Given the description of an element on the screen output the (x, y) to click on. 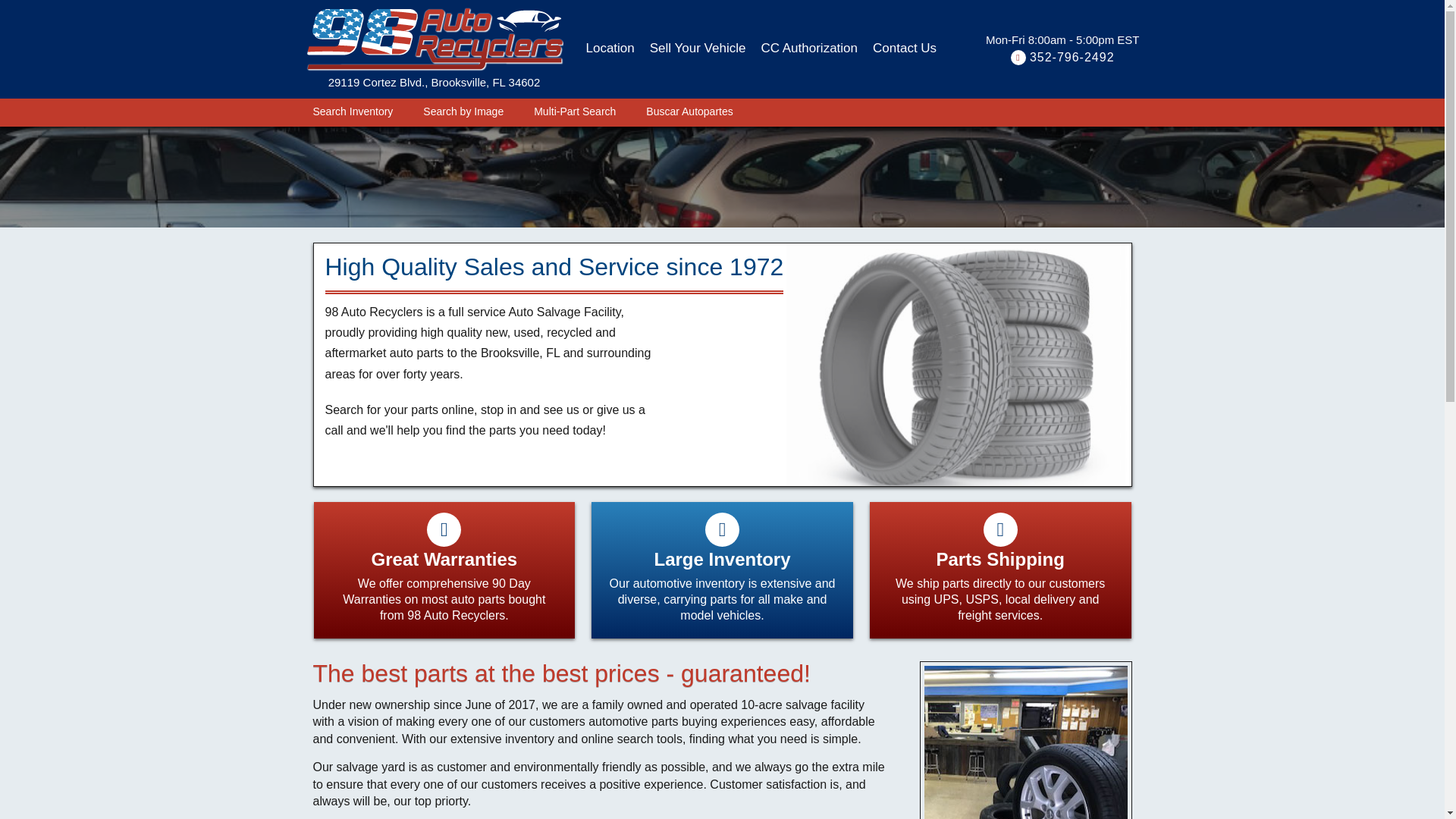
Search by Image (463, 111)
Location (610, 49)
Multi-Part Search (574, 111)
Search Inventory (353, 111)
Buscar Autopartes (689, 111)
Contact Us (904, 49)
CC Authorization (809, 49)
Sell Your Vehicle (697, 49)
352-796-2492 (1072, 57)
